Given the description of an element on the screen output the (x, y) to click on. 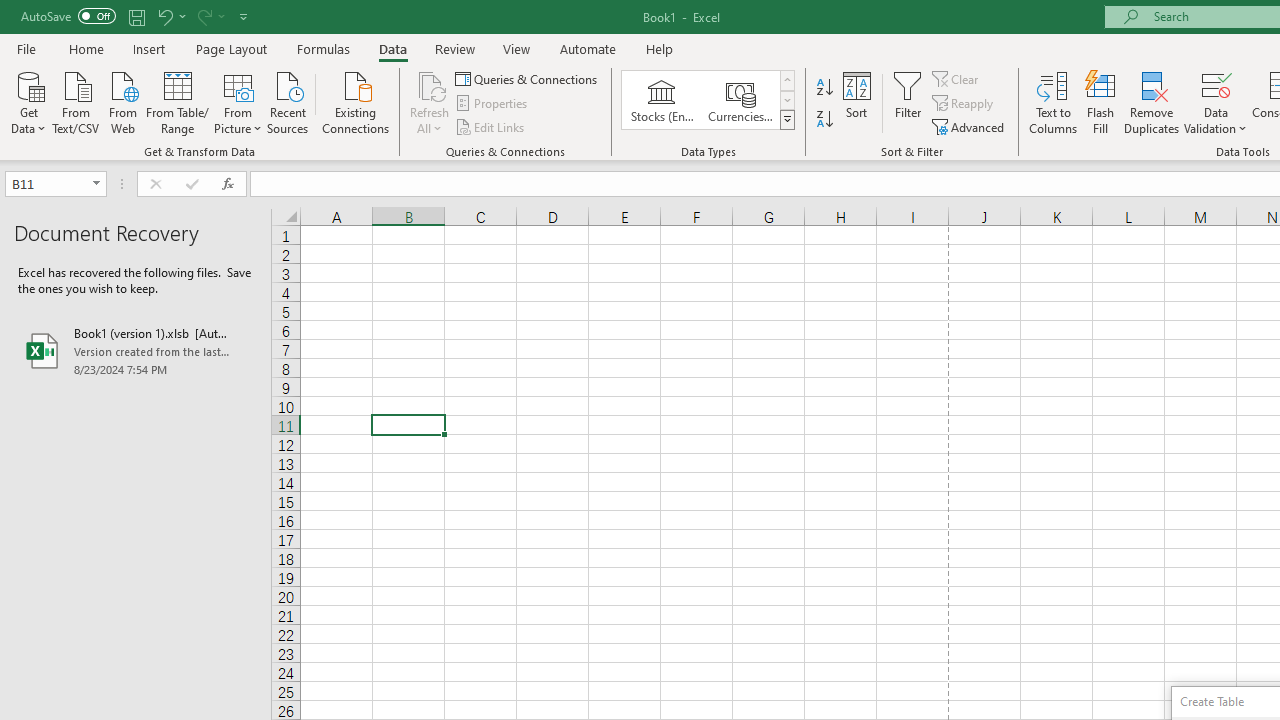
Queries & Connections (527, 78)
Text to Columns... (1053, 102)
Sort A to Z (824, 87)
Refresh All (429, 102)
From Picture (238, 101)
Customize Quick Access Toolbar (244, 15)
From Table/Range (177, 101)
Properties (492, 103)
Refresh All (429, 84)
Data (392, 48)
Open (96, 183)
AutoSave (68, 16)
